Given the description of an element on the screen output the (x, y) to click on. 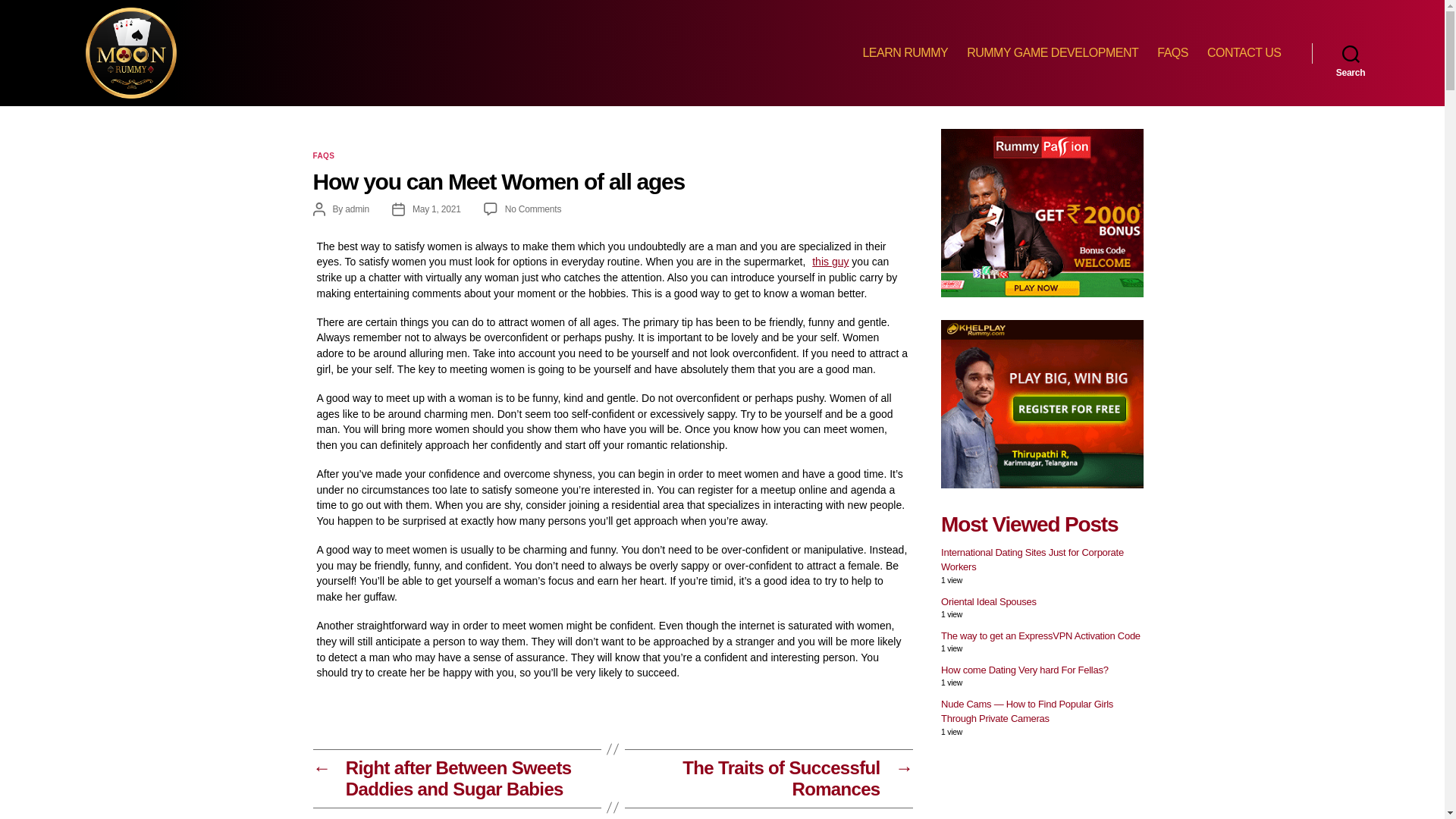
International Dating Sites Just for Corporate Workers (1032, 560)
The way to get an ExpressVPN Activation Code (1040, 635)
Search (1350, 52)
FAQS (323, 156)
LEARN RUMMY (904, 52)
May 1, 2021 (436, 208)
RUMMY GAME DEVELOPMENT (1052, 52)
Oriental Ideal Spouses (988, 601)
How come Dating Very hard For Fellas? (1024, 669)
this guy (828, 261)
